Given the description of an element on the screen output the (x, y) to click on. 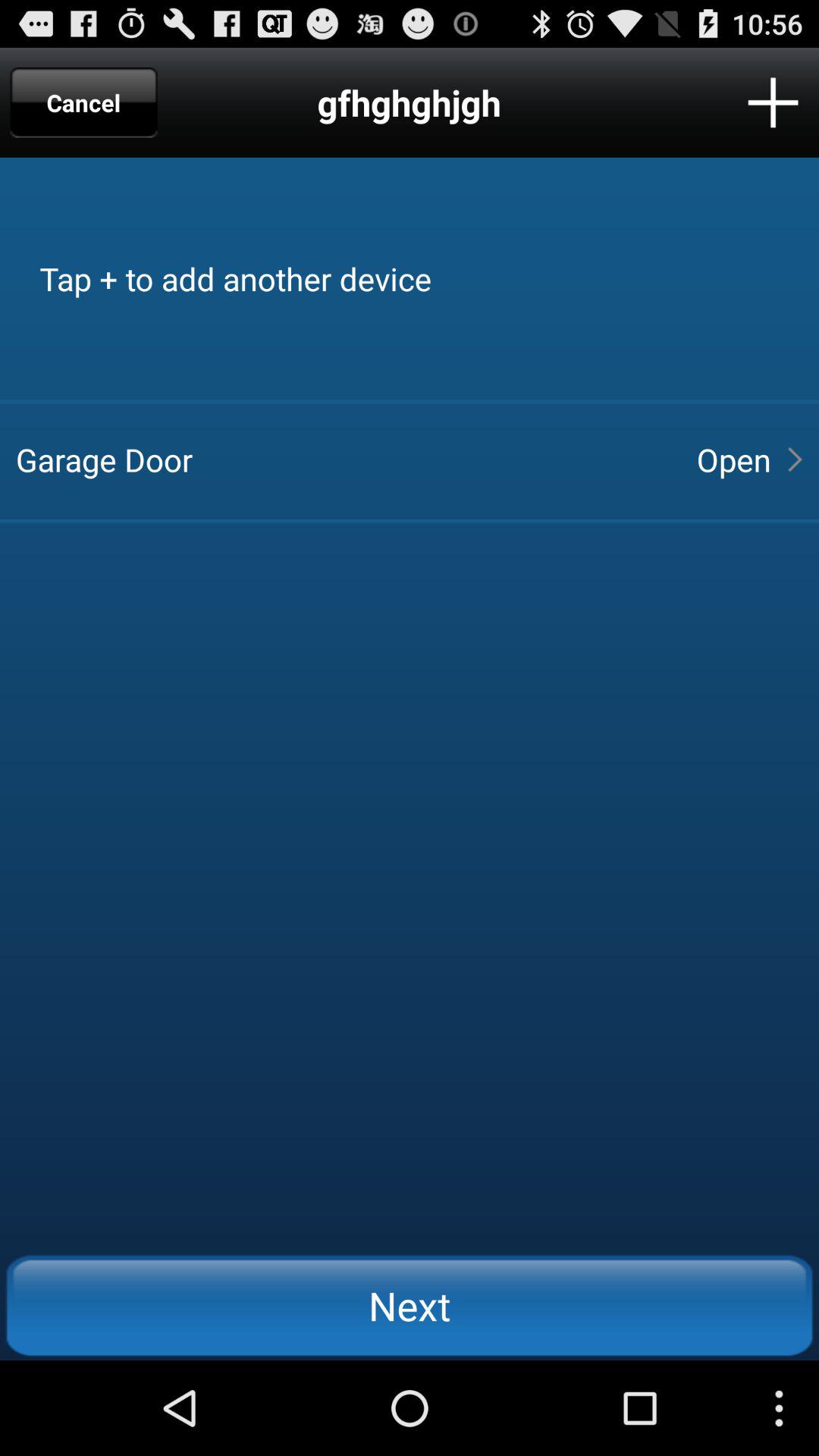
launch app to the left of open icon (342, 459)
